Given the description of an element on the screen output the (x, y) to click on. 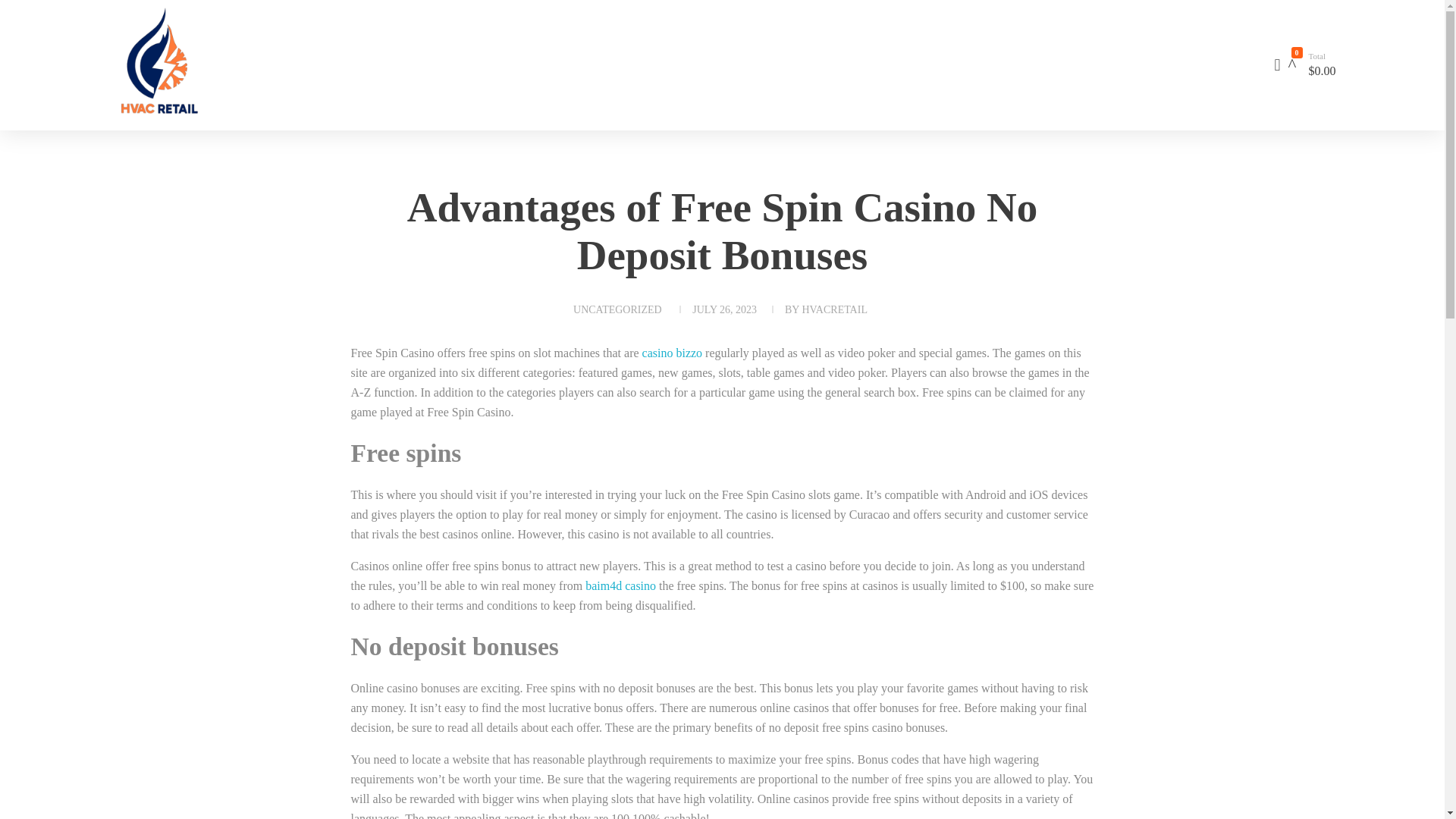
HVAC Retail (244, 62)
View all posts by HVACRetail (834, 309)
HVAC Retail (148, 126)
HVACRETAIL (834, 309)
baim4d casino (620, 585)
View all posts in Uncategorized (617, 309)
casino bizzo (672, 352)
UNCATEGORIZED (617, 309)
HVAC Retail (148, 126)
